Given the description of an element on the screen output the (x, y) to click on. 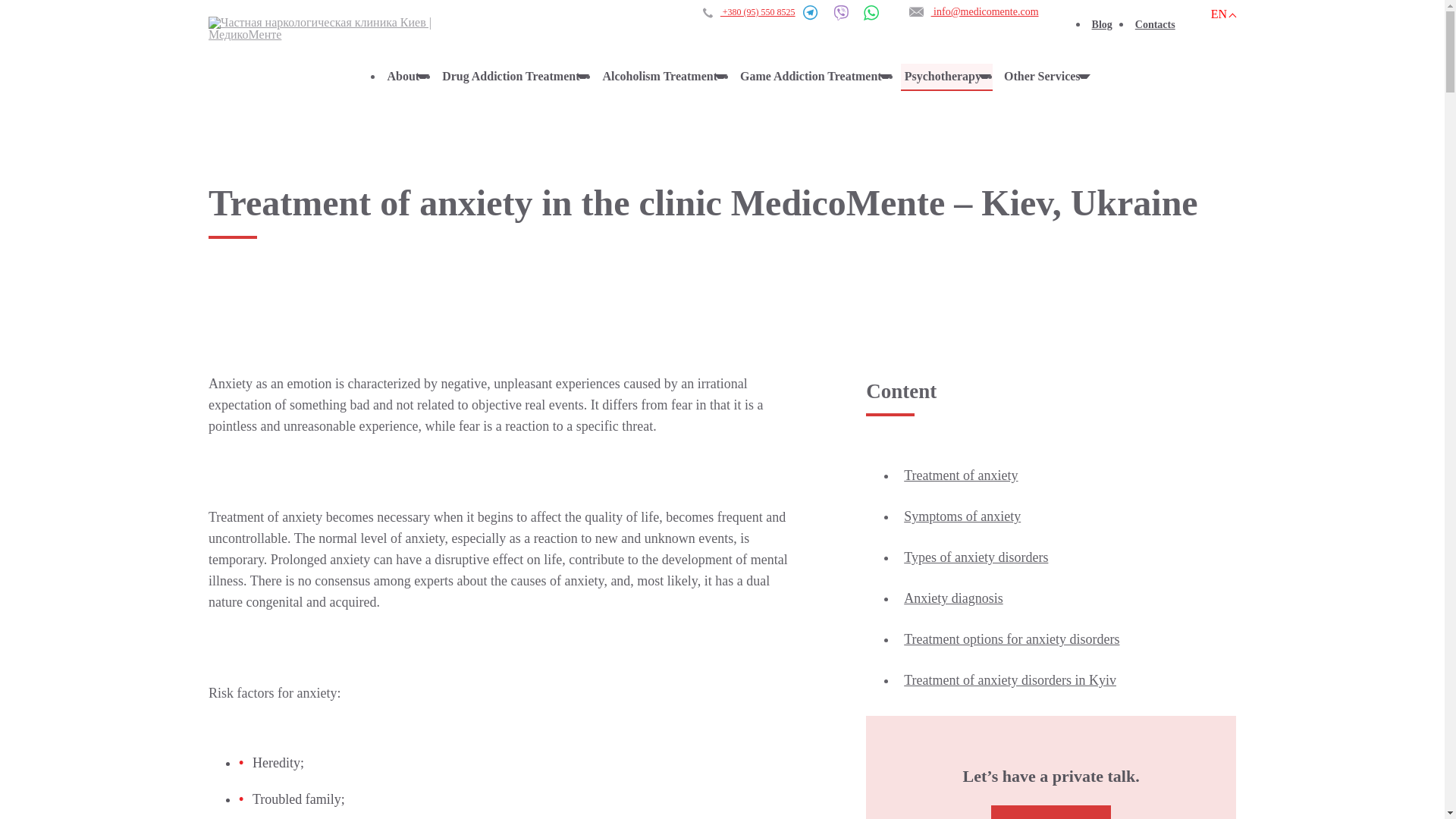
About (406, 76)
Blog (1105, 25)
Drug Addiction Treatment (514, 76)
Contacts (1158, 25)
